Given the description of an element on the screen output the (x, y) to click on. 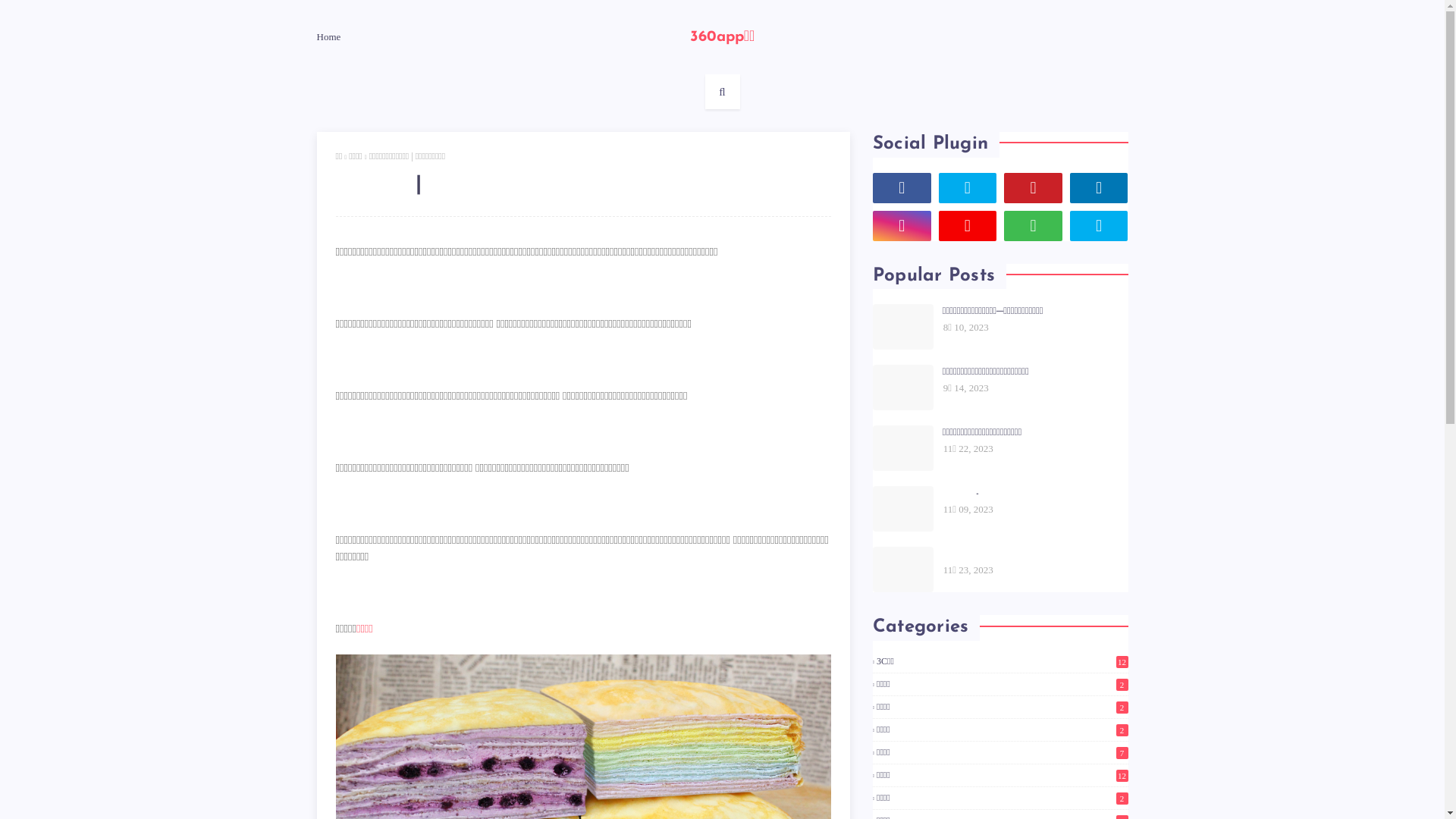
facebook Element type: hover (901, 187)
instagram Element type: hover (901, 225)
youtube Element type: hover (967, 225)
Home Element type: text (330, 37)
twitter Element type: hover (967, 187)
whatsapp Element type: hover (1033, 225)
skype Element type: hover (1099, 225)
pinterest Element type: hover (1033, 187)
linkedin Element type: hover (1099, 187)
